Given the description of an element on the screen output the (x, y) to click on. 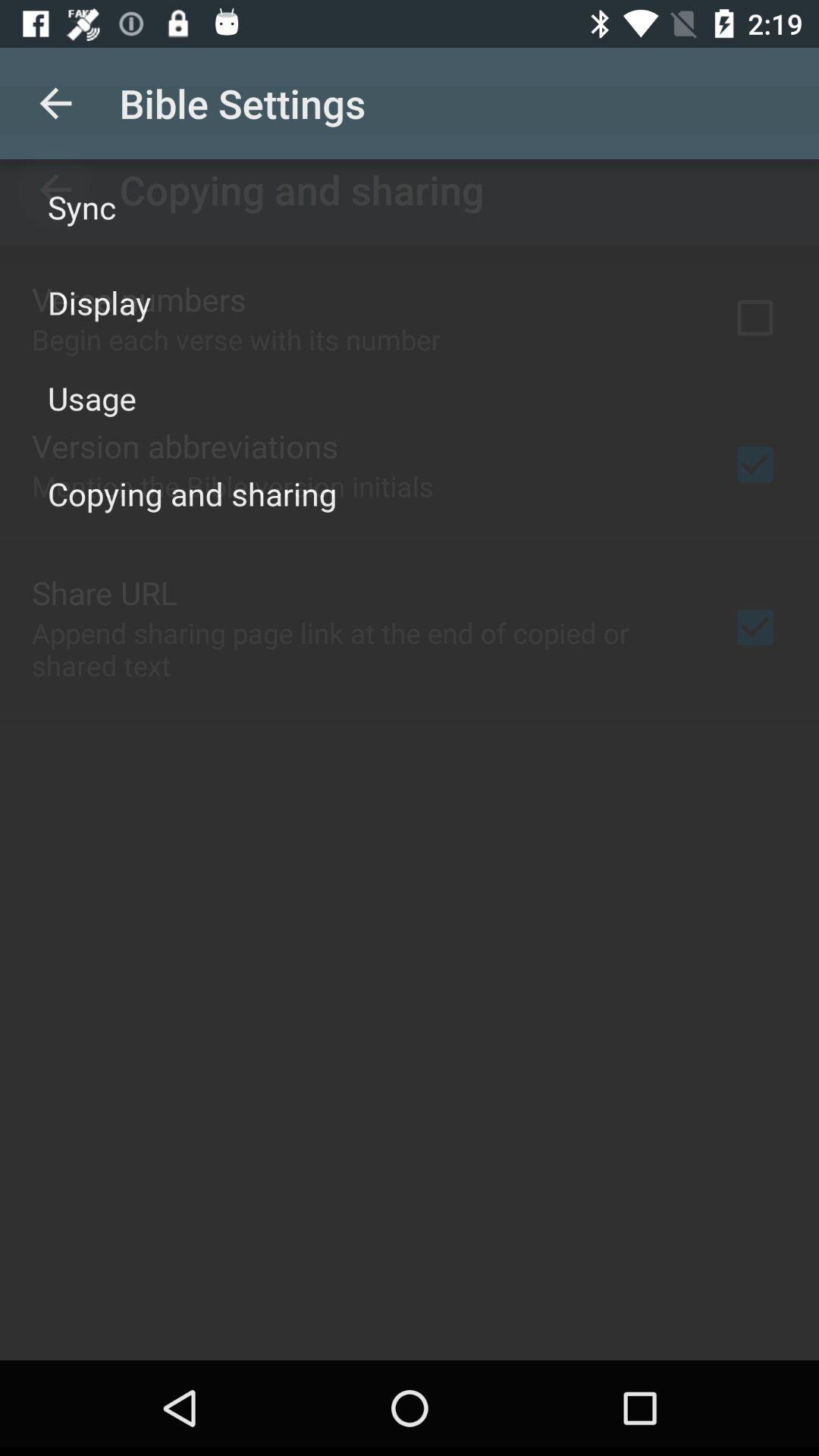
tap copying and sharing on the left (191, 493)
